Given the description of an element on the screen output the (x, y) to click on. 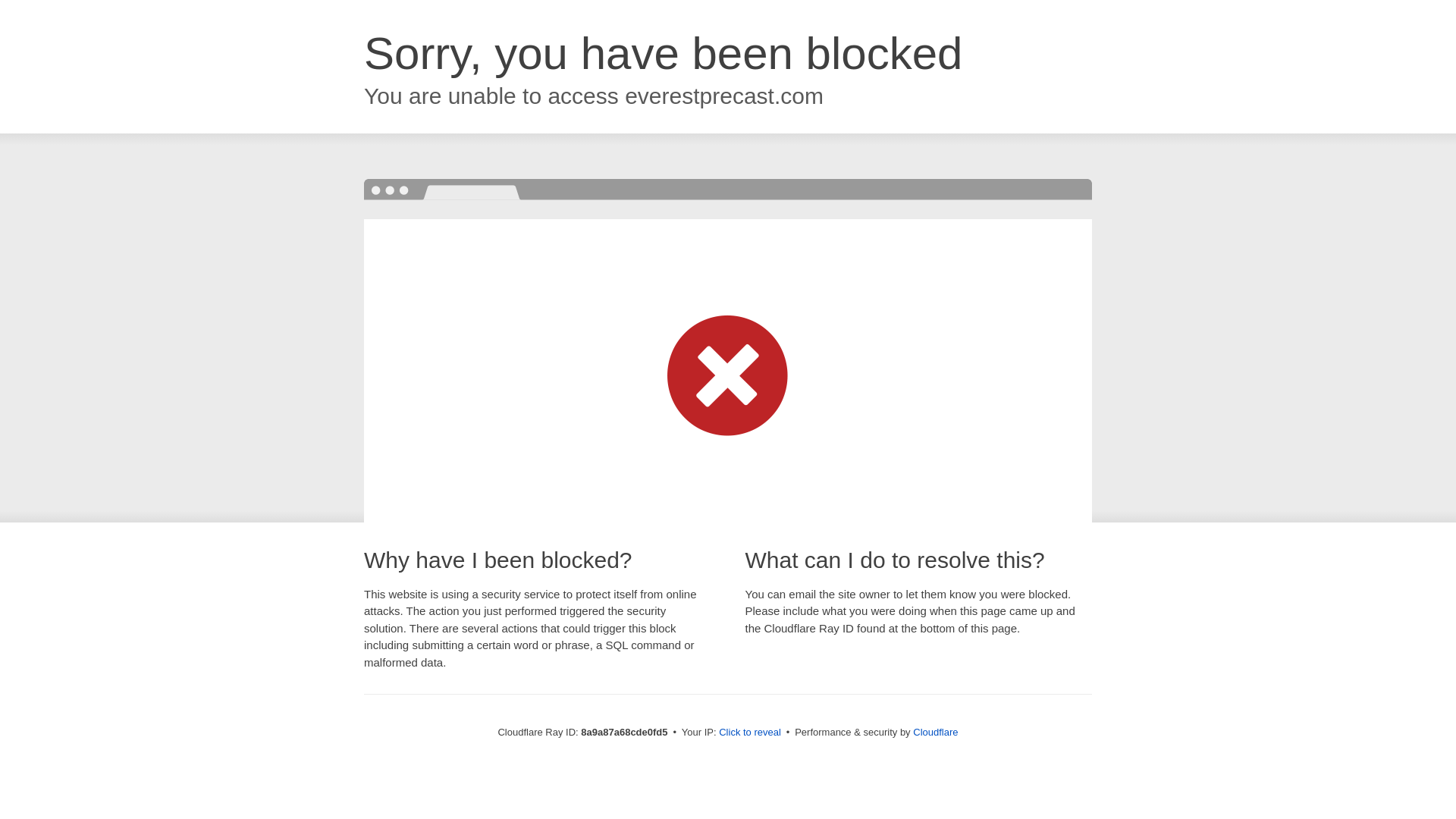
Cloudflare (935, 731)
Click to reveal (749, 732)
